Given the description of an element on the screen output the (x, y) to click on. 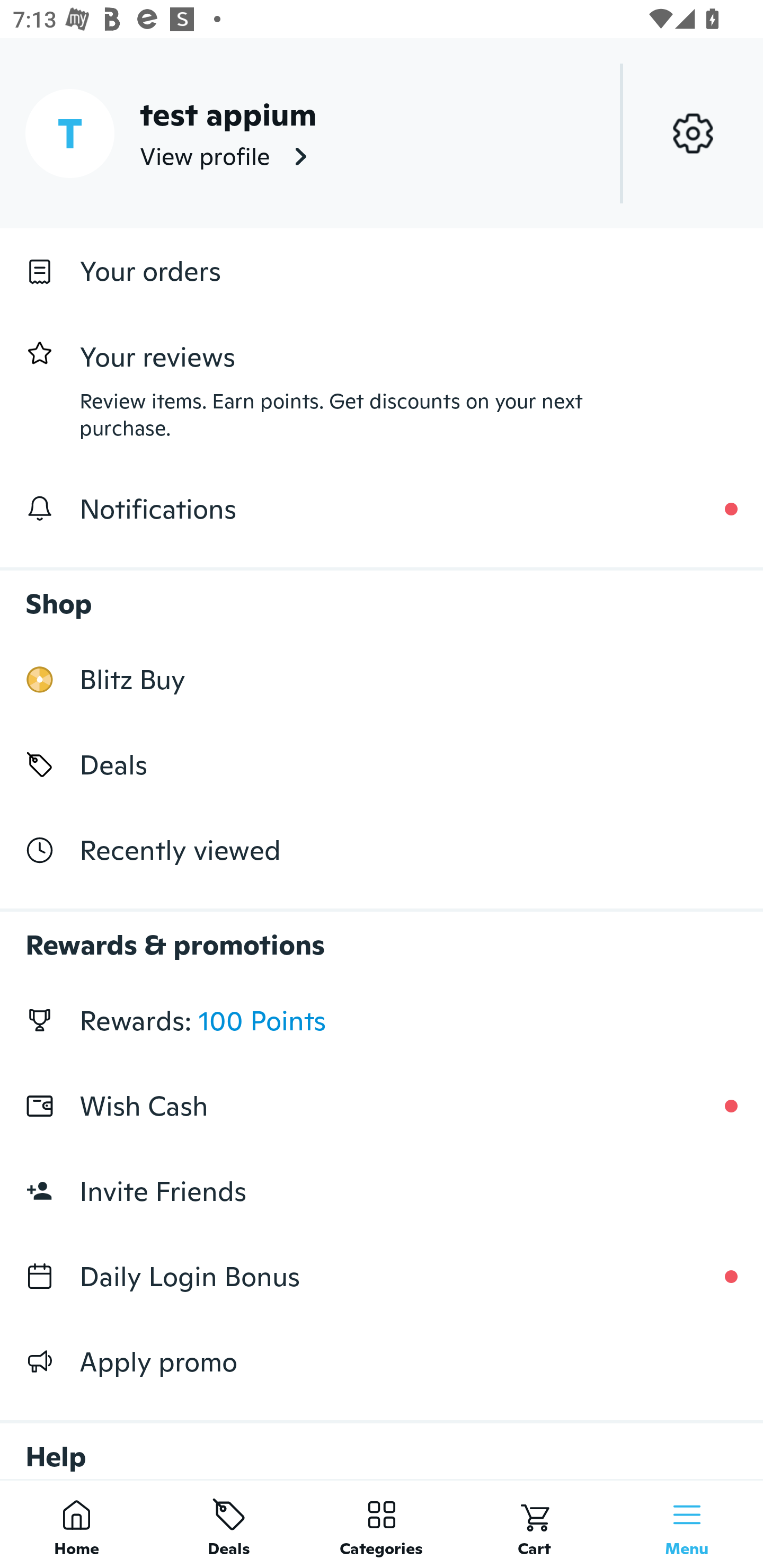
T test appium View profile (381, 132)
Your orders (381, 270)
Notifications (381, 508)
Shop (381, 593)
Blitz Buy (381, 679)
Deals (381, 764)
Recently viewed (381, 850)
Rewards & promotions (381, 935)
Rewards: 100 Points (381, 1020)
Wish Cash (381, 1106)
Invite Friends (381, 1190)
Daily Login Bonus (381, 1277)
Apply promo (381, 1361)
Help (381, 1441)
Home (76, 1523)
Deals (228, 1523)
Categories (381, 1523)
Cart (533, 1523)
Menu (686, 1523)
